Given the description of an element on the screen output the (x, y) to click on. 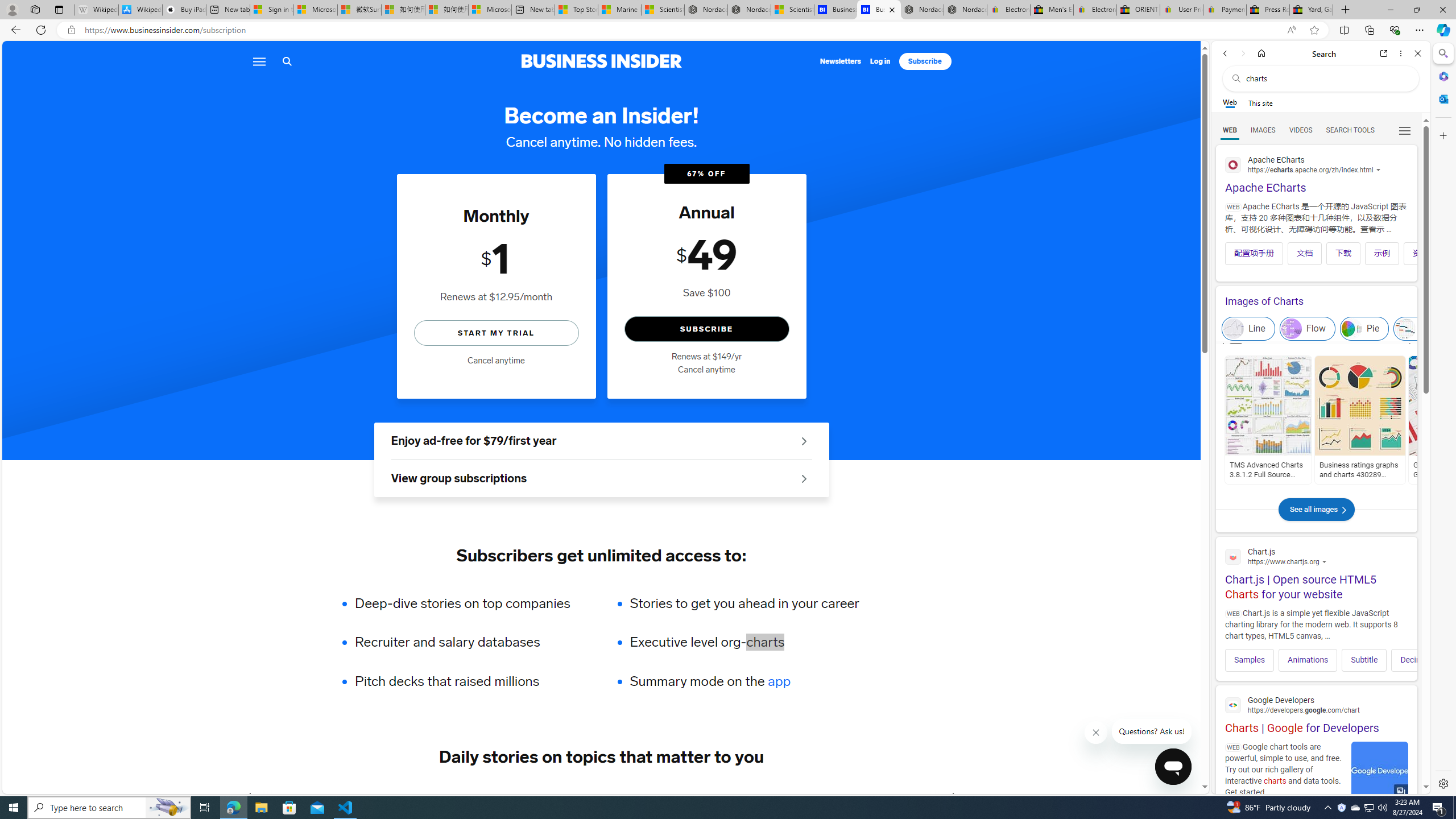
Go to the search page. (286, 61)
TECH (280, 796)
Search Filter, WEB (1230, 129)
Wikipedia - Sleeping (96, 9)
Press Room - eBay Inc. (1267, 9)
Buy iPad - Apple (184, 9)
Questions? Ask us! (1152, 731)
Class: sc-1uf0igr-1 fjHZYk (1096, 732)
SEARCH TOOLS (1350, 130)
